Given the description of an element on the screen output the (x, y) to click on. 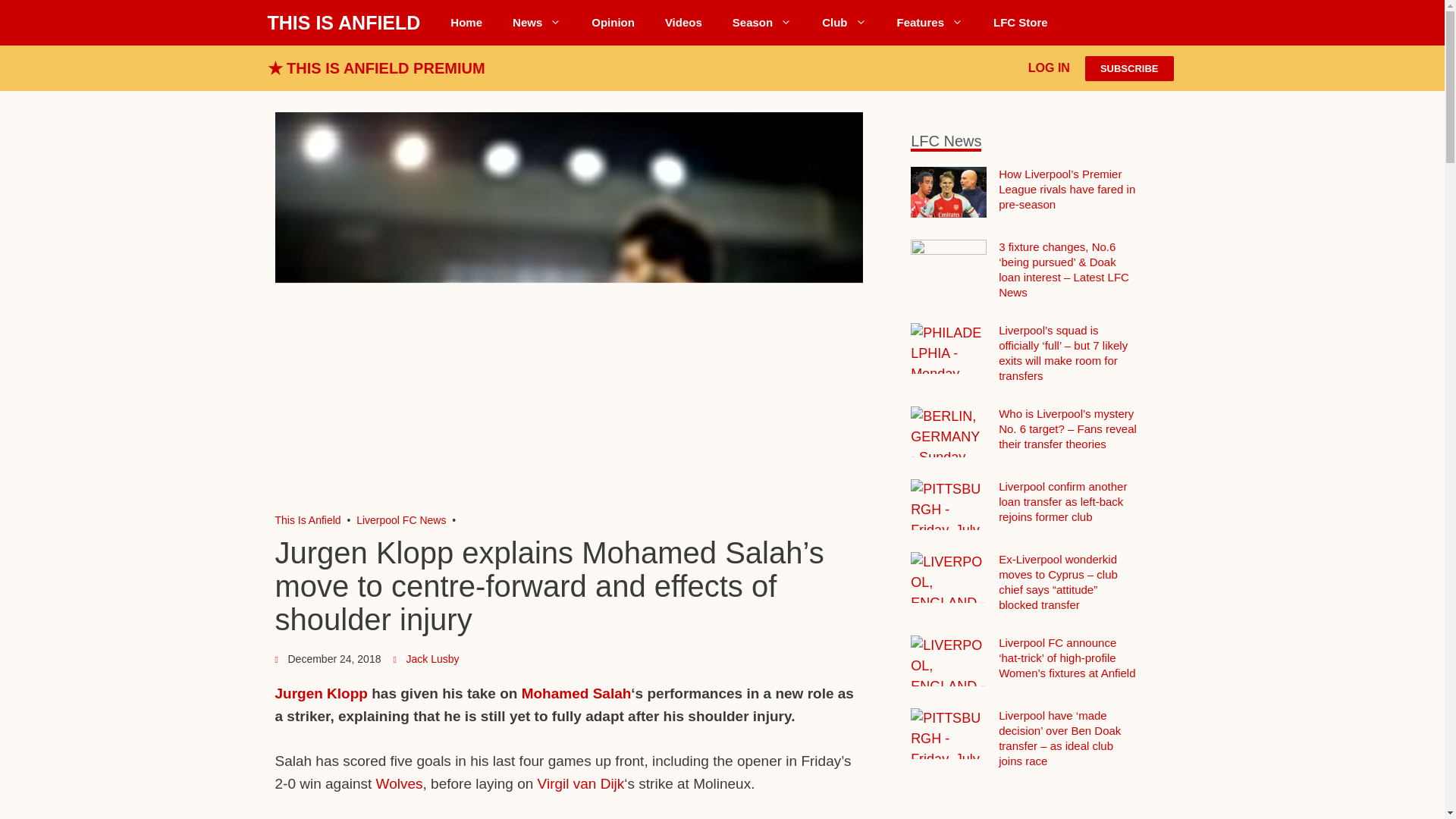
THIS IS ANFIELD (343, 22)
Go to the Liverpool FC News category archives. (400, 520)
Home (466, 22)
Club (843, 22)
Videos (683, 22)
Opinion (612, 22)
News (536, 22)
Liverpool FC (307, 520)
Mohamed Salah (576, 693)
Liverpool FC News (536, 22)
